Given the description of an element on the screen output the (x, y) to click on. 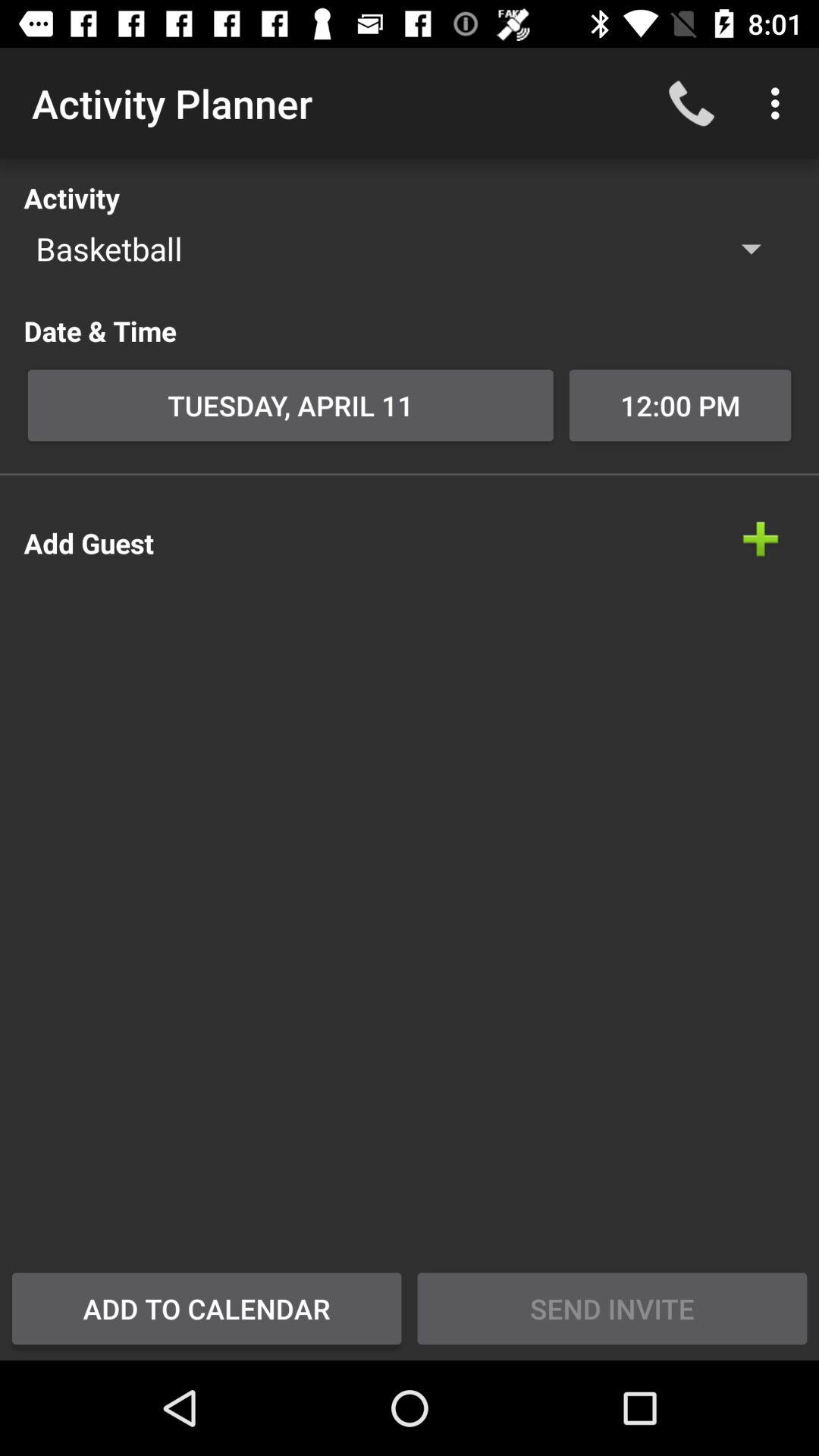
click 12:00 pm (680, 405)
